Given the description of an element on the screen output the (x, y) to click on. 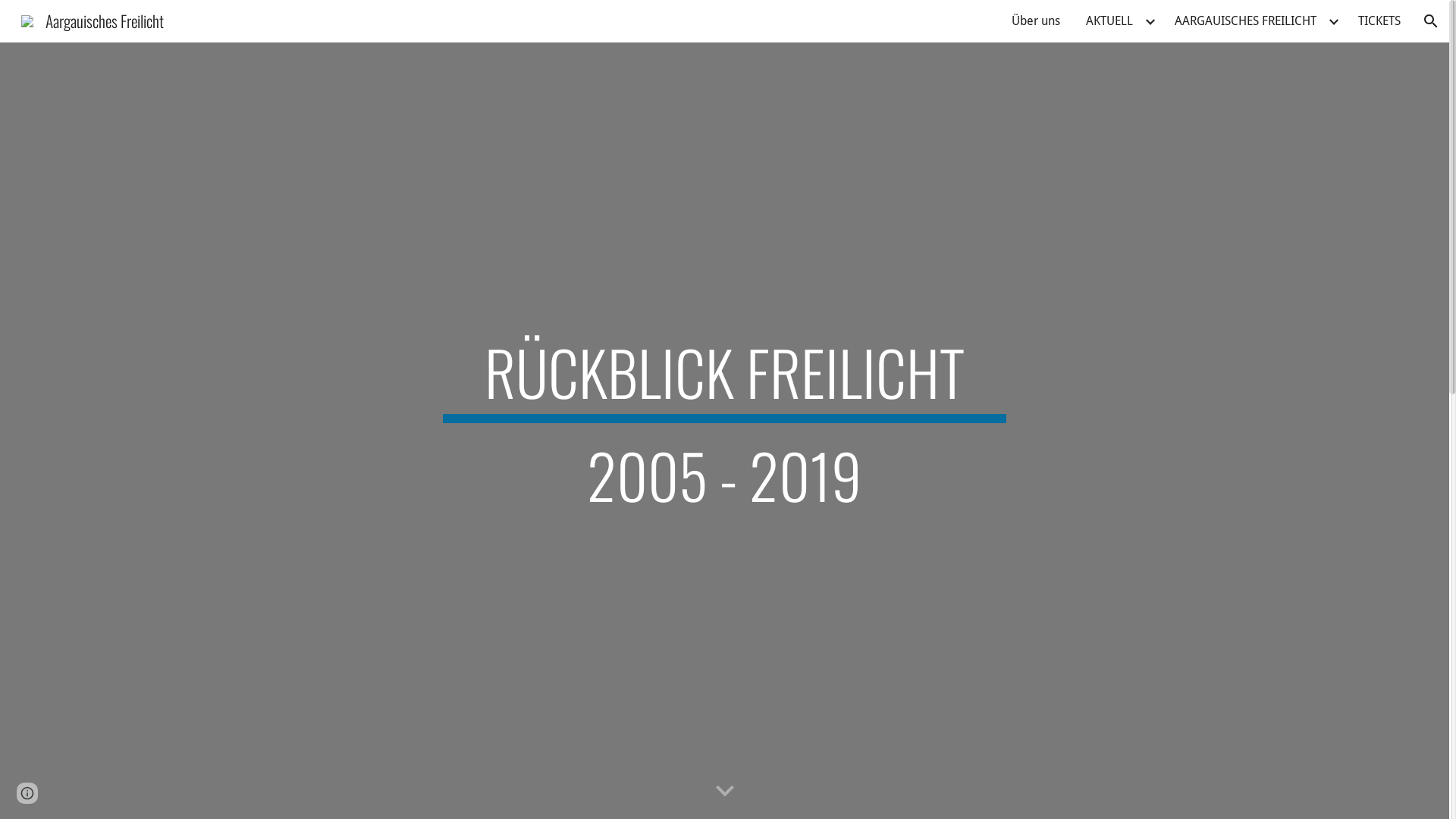
Aargauisches Freilicht Element type: text (92, 18)
AKTUELL Element type: text (1109, 20)
AARGAUISCHES FREILICHT Element type: text (1245, 20)
Expand/Collapse Element type: hover (1149, 20)
TICKETS Element type: text (1379, 20)
Expand/Collapse Element type: hover (1332, 20)
